Given the description of an element on the screen output the (x, y) to click on. 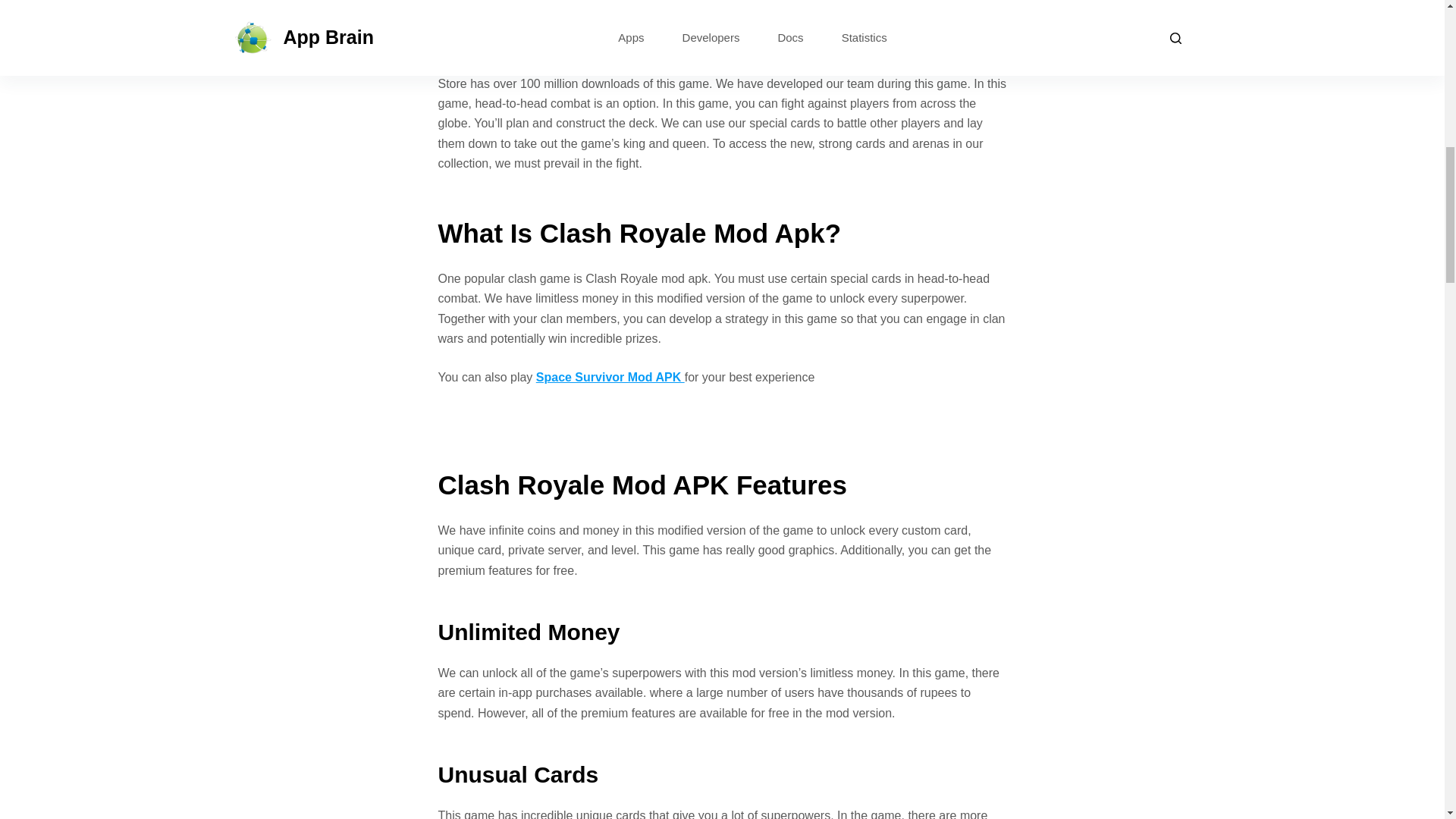
Space Survivor Mod APK (609, 377)
